Given the description of an element on the screen output the (x, y) to click on. 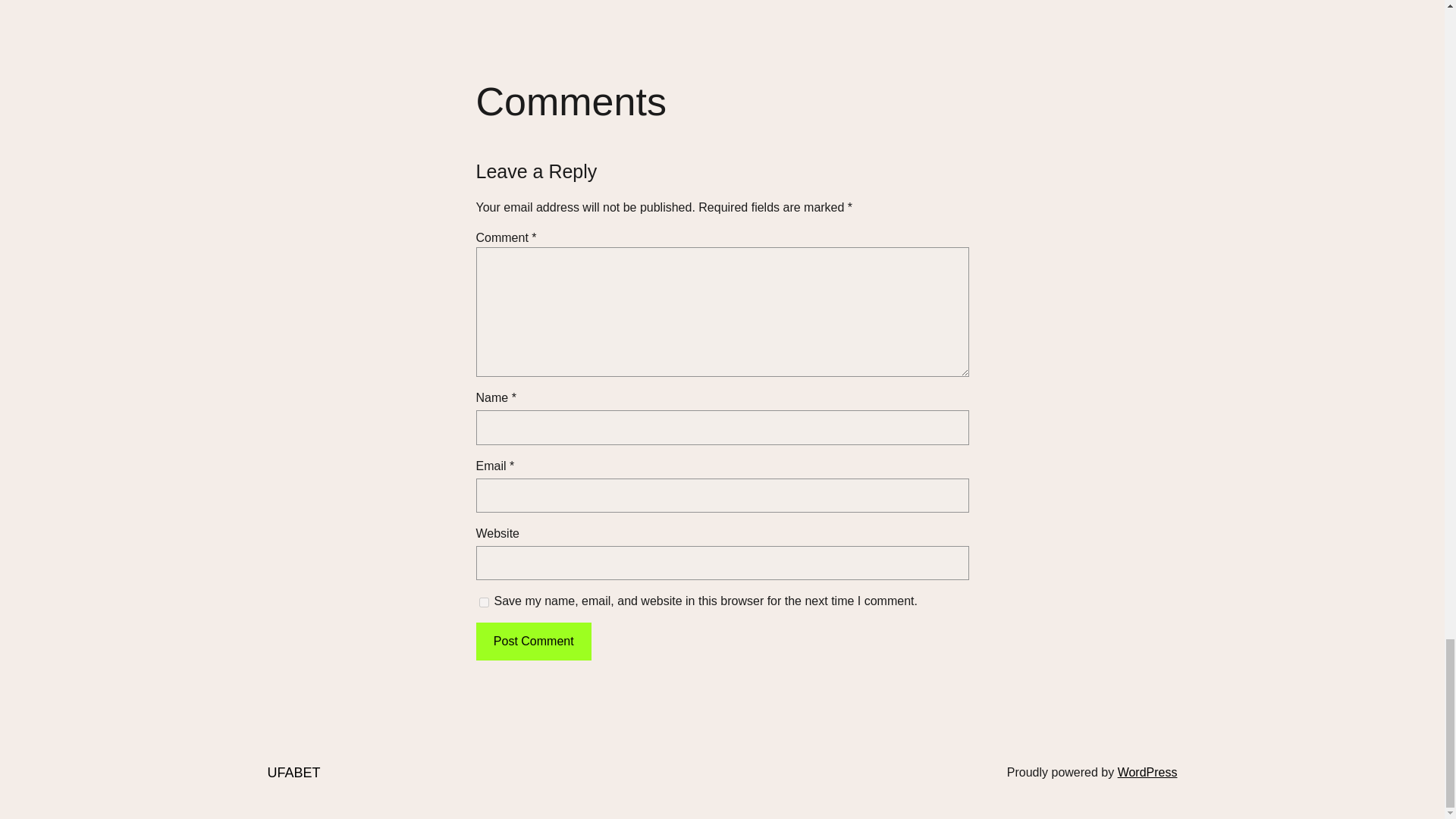
WordPress (1147, 771)
yes (484, 602)
Post Comment (533, 641)
Post Comment (533, 641)
UFABET (293, 772)
